Given the description of an element on the screen output the (x, y) to click on. 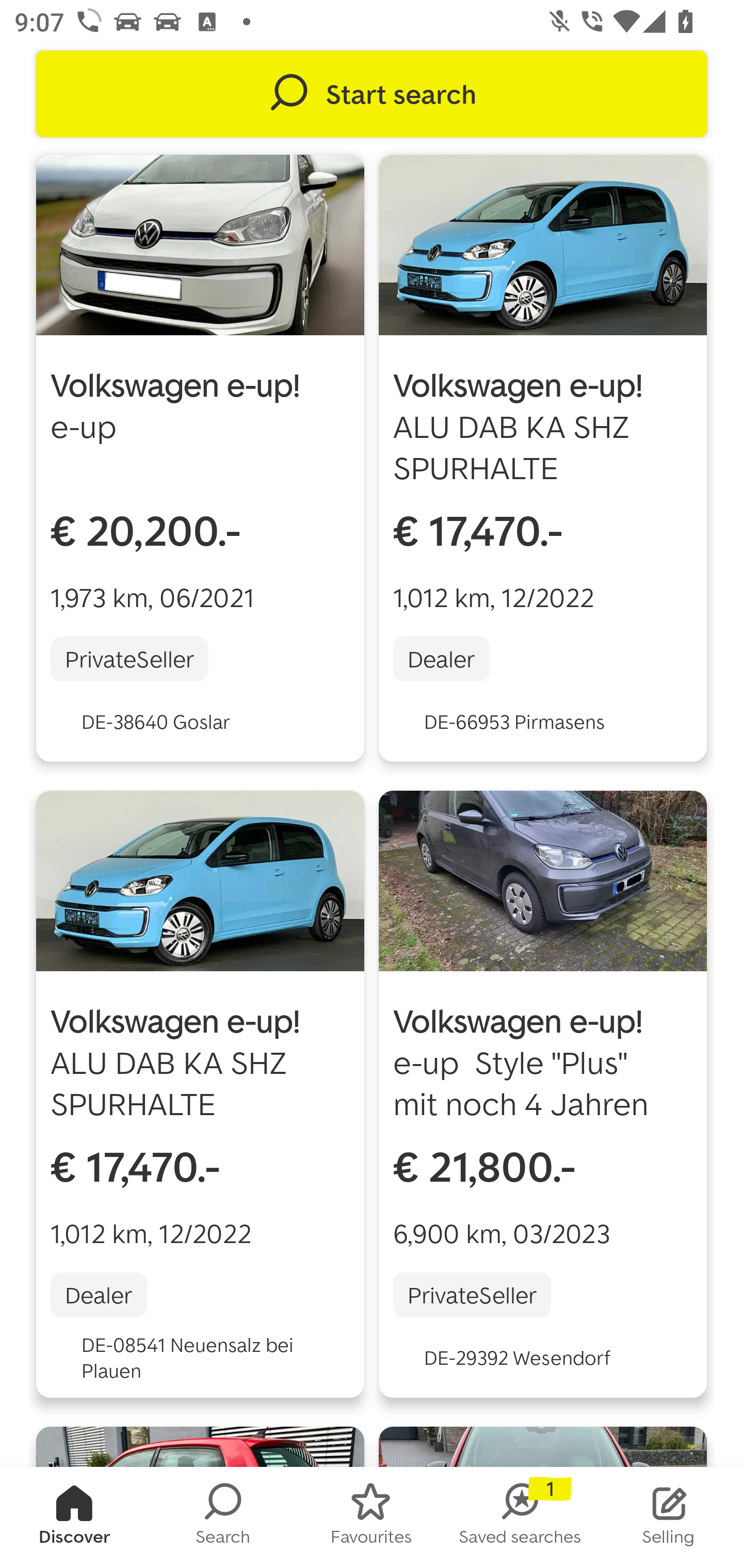
Start search (371, 93)
HOMESCREEN Discover (74, 1517)
SEARCH Search (222, 1517)
FAVORITES Favourites (371, 1517)
SAVED_SEARCHES Saved searches 1 (519, 1517)
STOCK_LIST Selling (668, 1517)
